Given the description of an element on the screen output the (x, y) to click on. 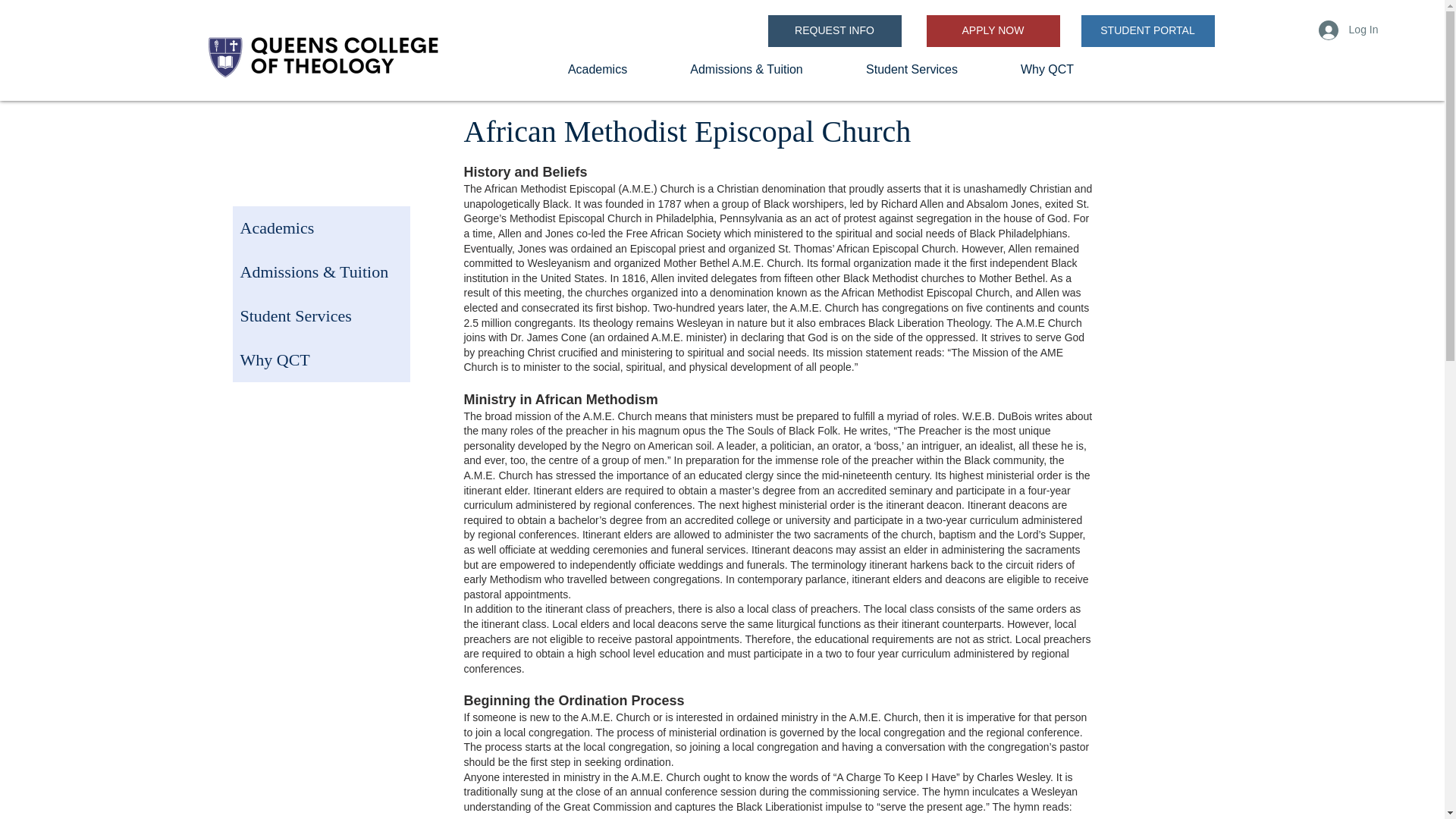
Log In (1348, 30)
Academics (598, 68)
REQUEST INFO (834, 30)
Why QCT (1046, 68)
STUDENT PORTAL (1147, 30)
APPLY NOW (992, 30)
Academics (320, 228)
